Given the description of an element on the screen output the (x, y) to click on. 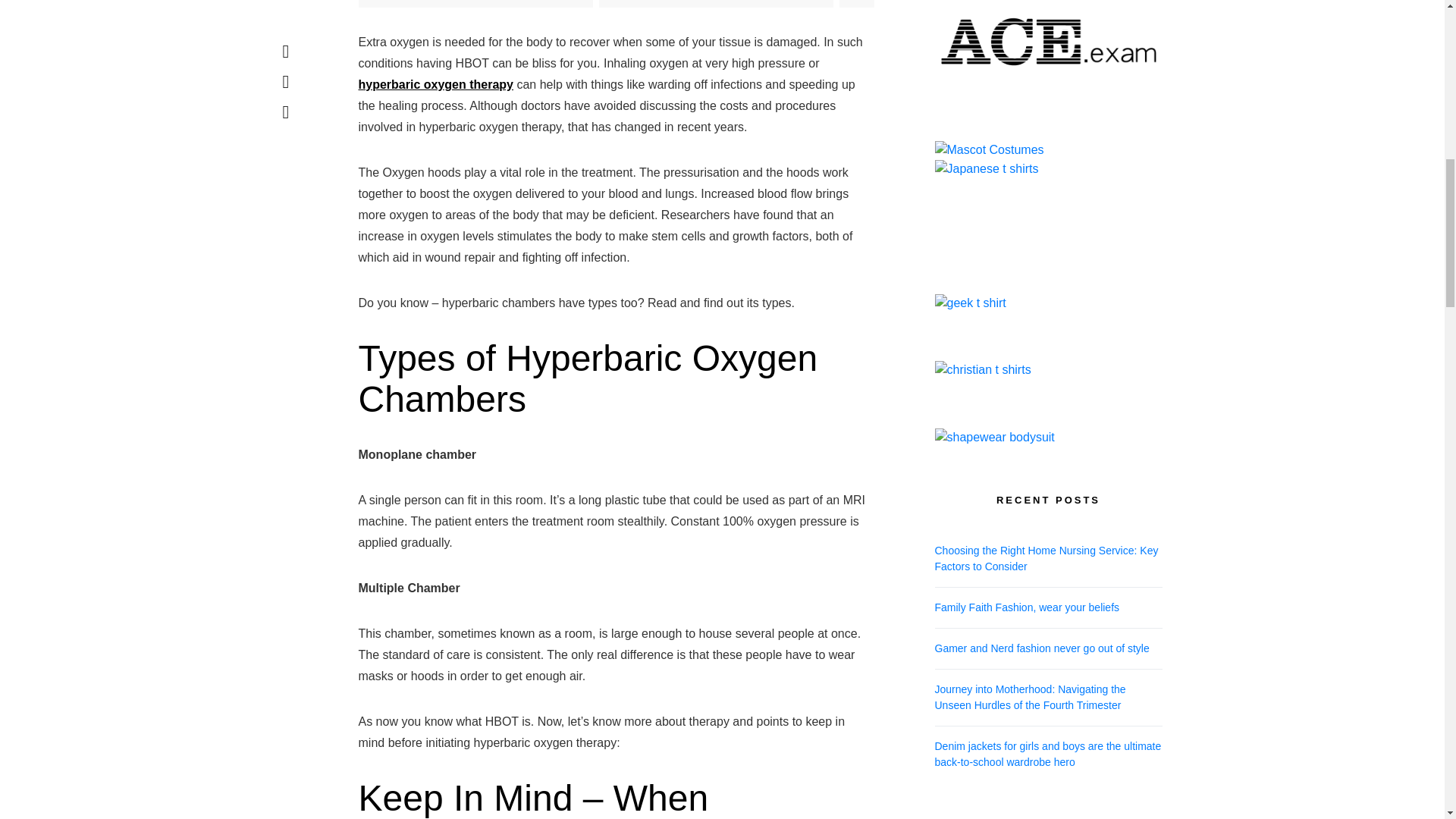
SHARE (475, 3)
hyperbaric oxygen therapy (435, 83)
TWEET (715, 3)
